Given the description of an element on the screen output the (x, y) to click on. 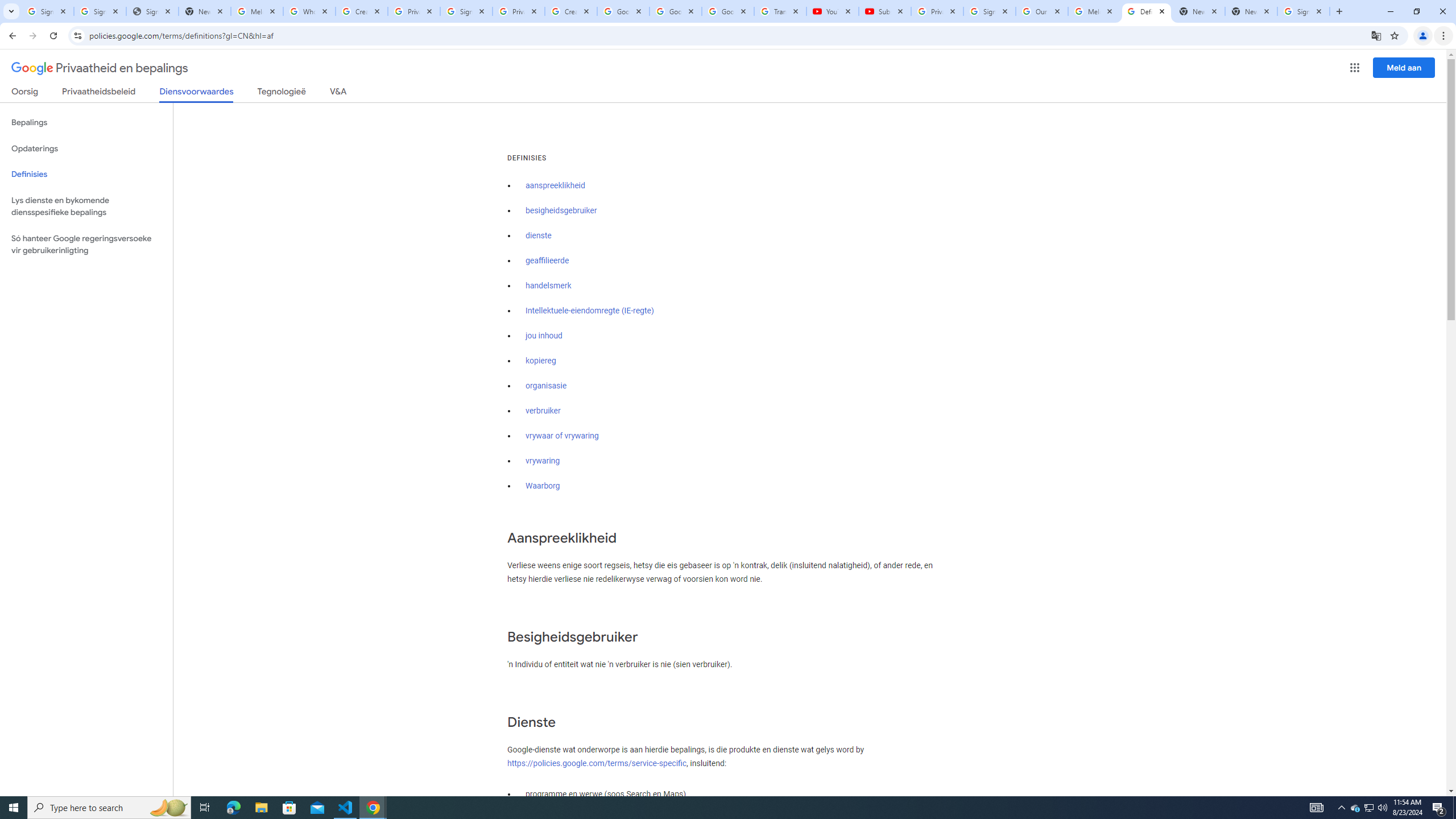
Google-programme (1355, 67)
New Tab (1251, 11)
Meld aan (1404, 67)
